Given the description of an element on the screen output the (x, y) to click on. 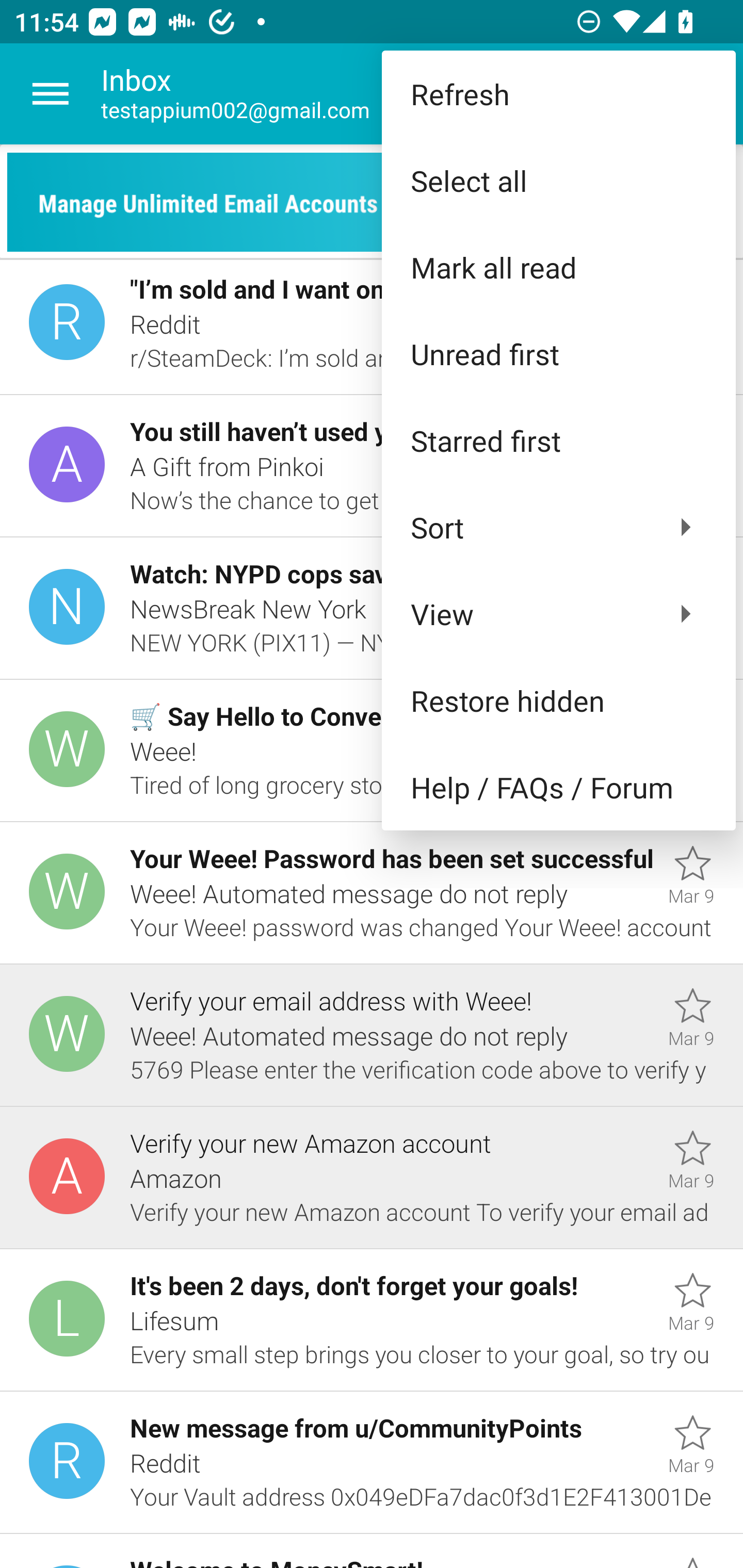
Refresh (558, 93)
Select all (558, 180)
Mark all read (558, 267)
Unread first (558, 353)
Starred first (558, 440)
Sort (558, 527)
View (558, 613)
Restore hidden (558, 699)
Help / FAQs / Forum (558, 787)
